Given the description of an element on the screen output the (x, y) to click on. 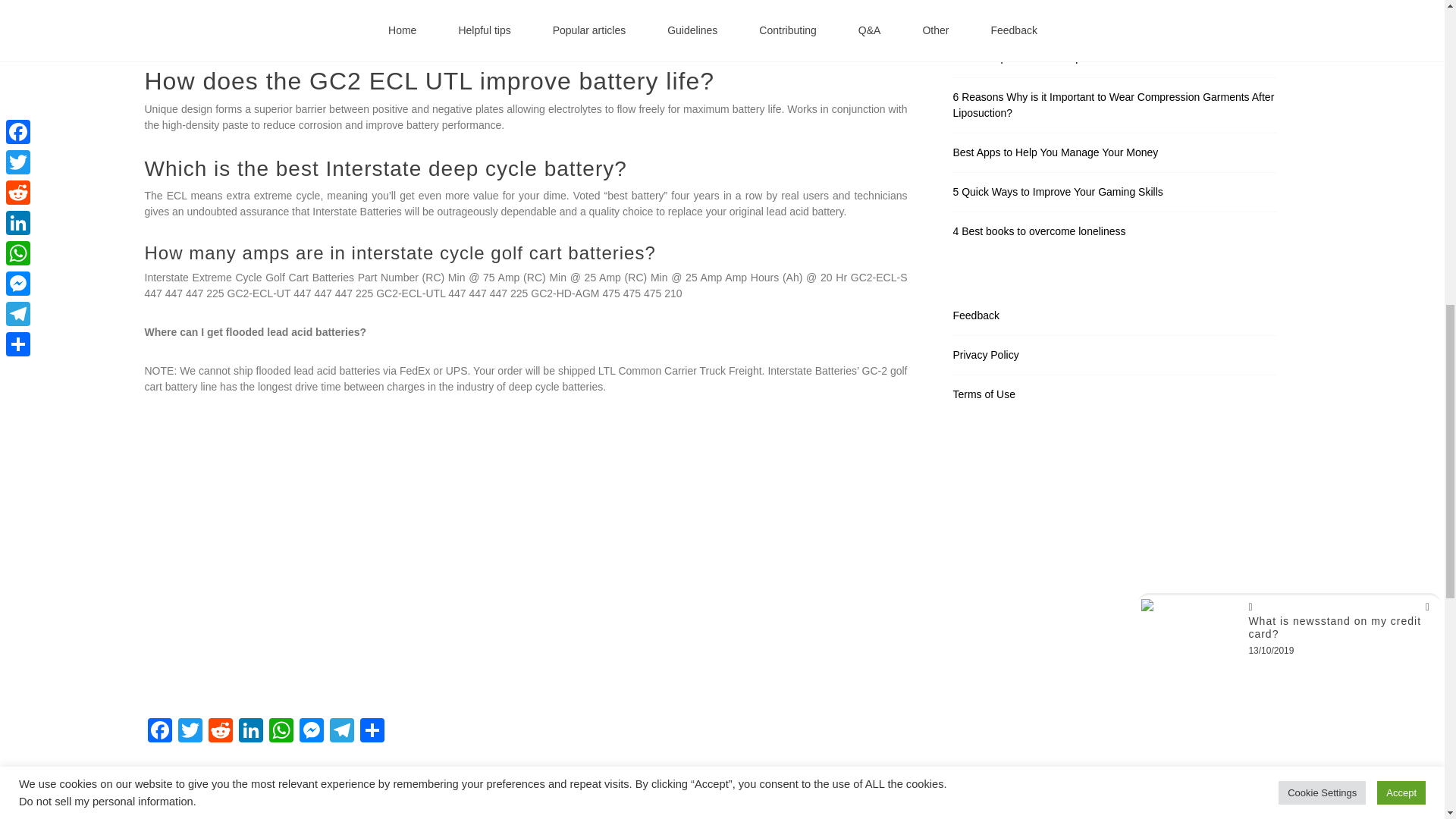
Twitter (189, 732)
Messenger (310, 732)
Messenger (310, 732)
443 words (262, 816)
5 years (214, 816)
Telegram (341, 732)
WhatsApp (279, 732)
LinkedIn (249, 732)
Share (371, 732)
Telegram (341, 732)
Reddit (219, 732)
Facebook (159, 732)
Reddit (219, 732)
Facebook (159, 732)
LinkedIn (249, 732)
